Given the description of an element on the screen output the (x, y) to click on. 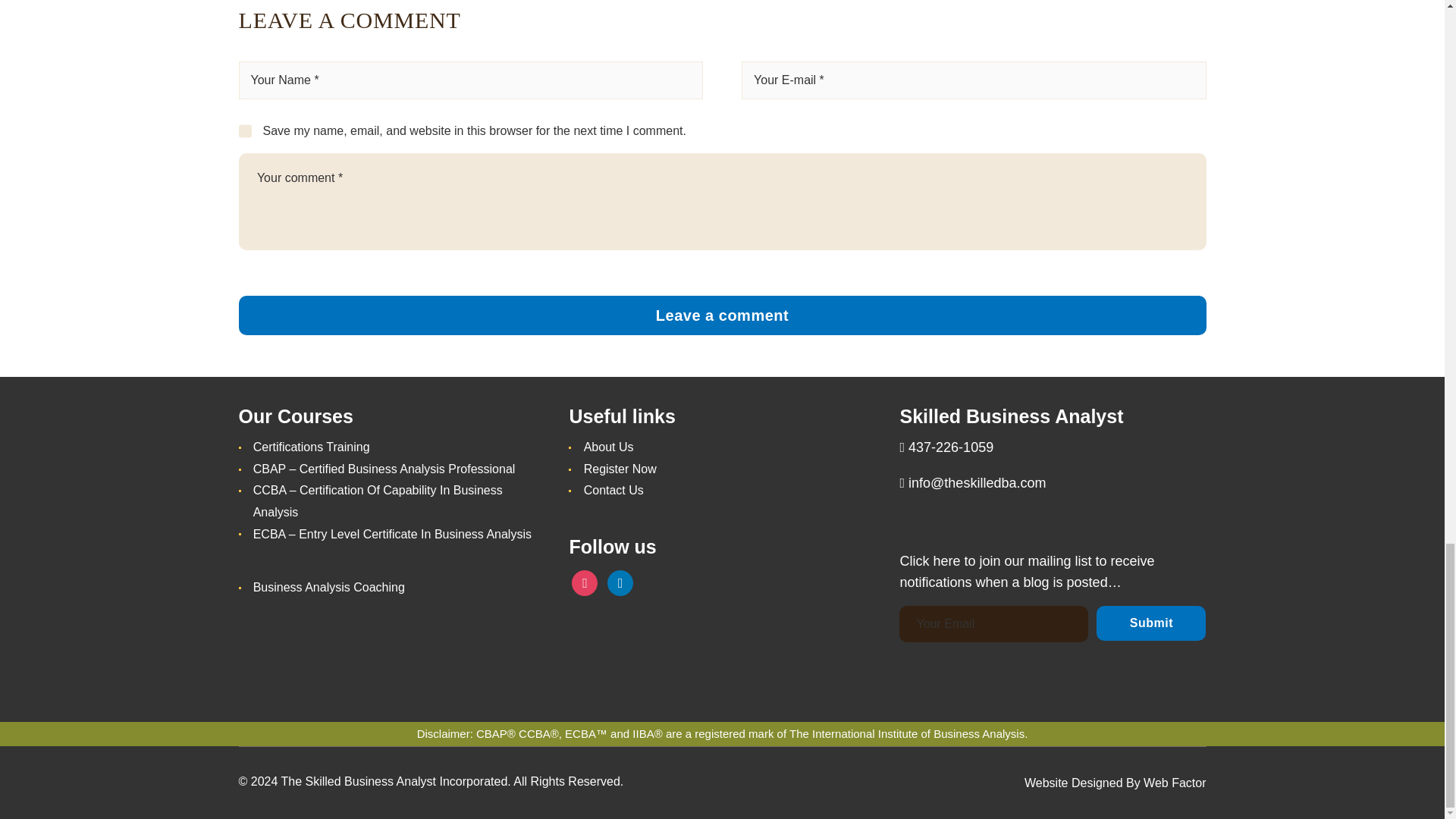
Submit (1150, 623)
Default Label (620, 581)
Instagram (584, 581)
Leave a comment (721, 314)
